Given the description of an element on the screen output the (x, y) to click on. 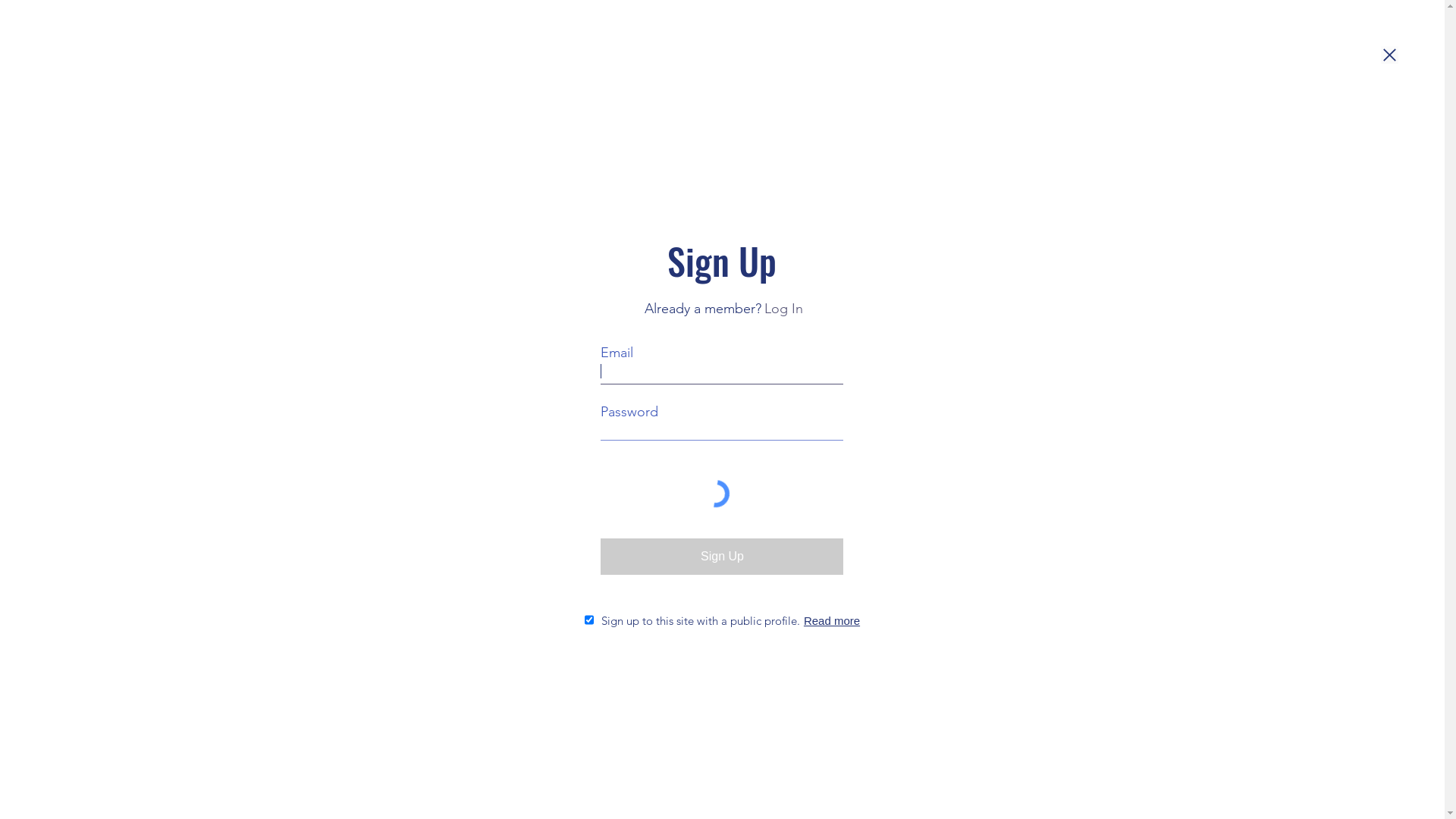
Sign Up Element type: text (721, 556)
Log In Element type: text (784, 309)
Read more Element type: text (830, 620)
